Given the description of an element on the screen output the (x, y) to click on. 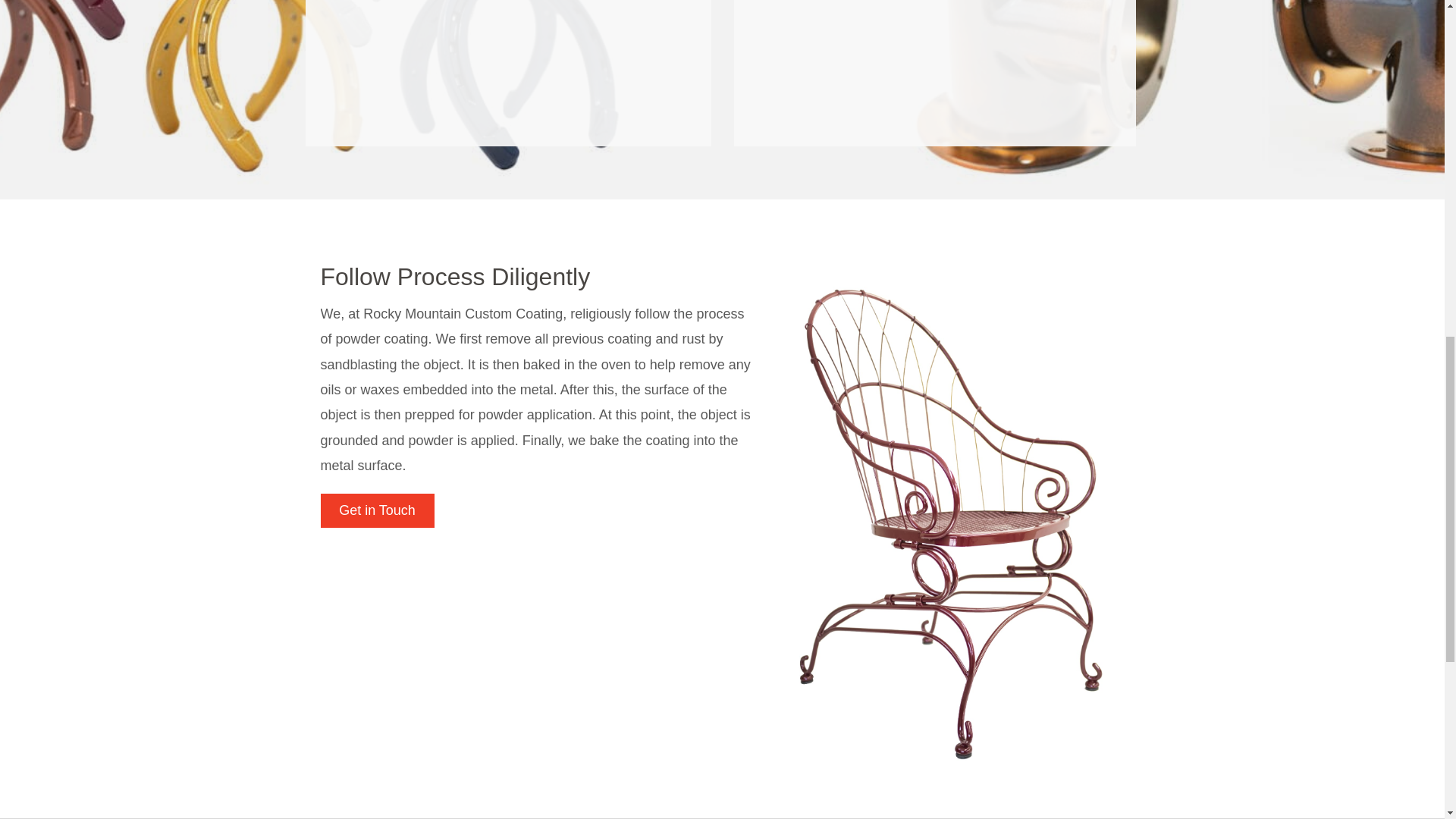
Get in Touch (376, 510)
